Given the description of an element on the screen output the (x, y) to click on. 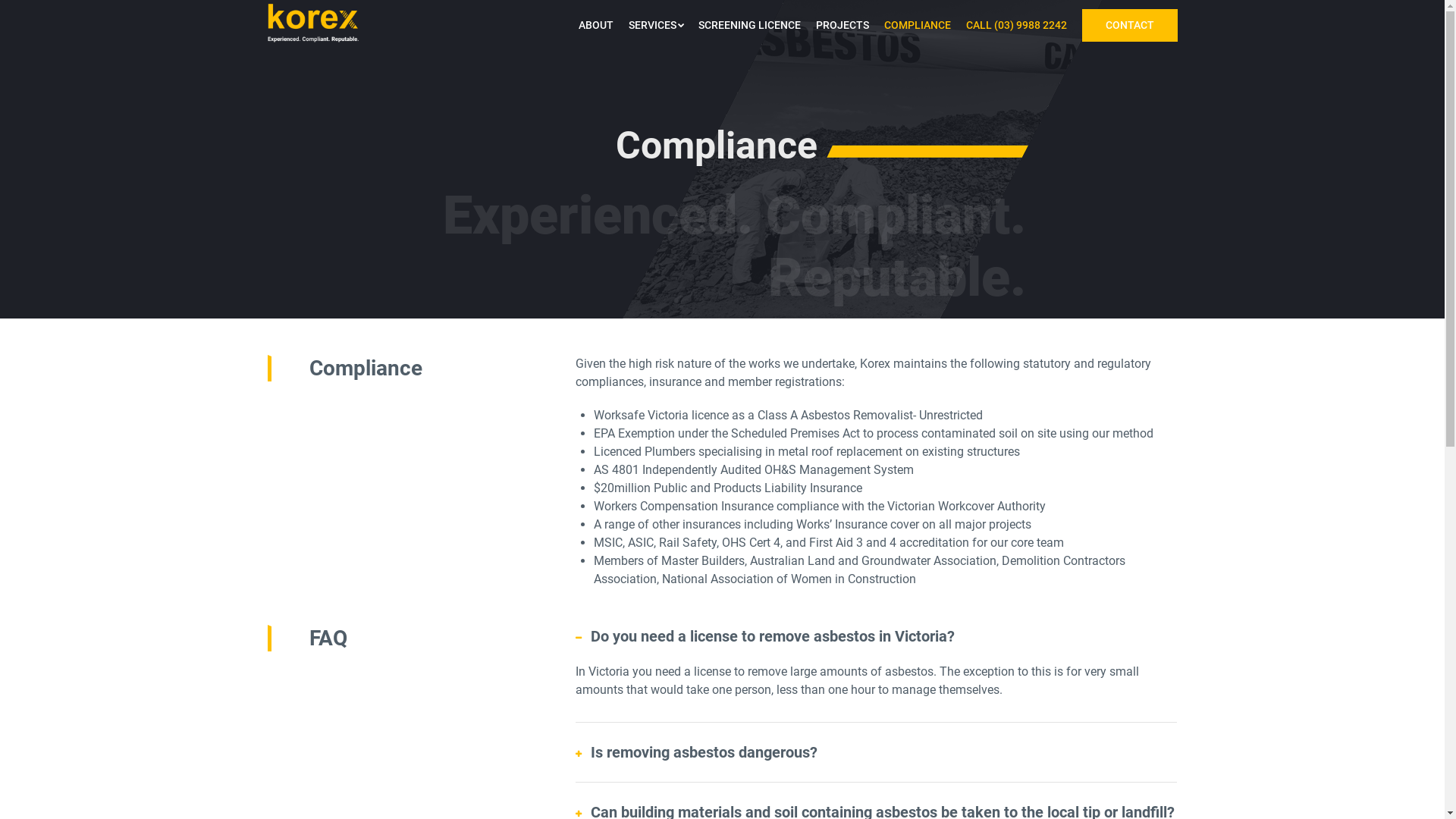
PROJECTS Element type: text (842, 25)
CONTACT Element type: text (1128, 25)
SERVICES Element type: text (654, 25)
CALL (03) 9988 2242 Element type: text (1016, 25)
Skip to content Element type: text (357, 32)
Korex Element type: hover (311, 23)
ABOUT Element type: text (594, 25)
COMPLIANCE Element type: text (917, 25)
SCREENING LICENCE Element type: text (748, 25)
Korex Element type: hover (311, 41)
